Given the description of an element on the screen output the (x, y) to click on. 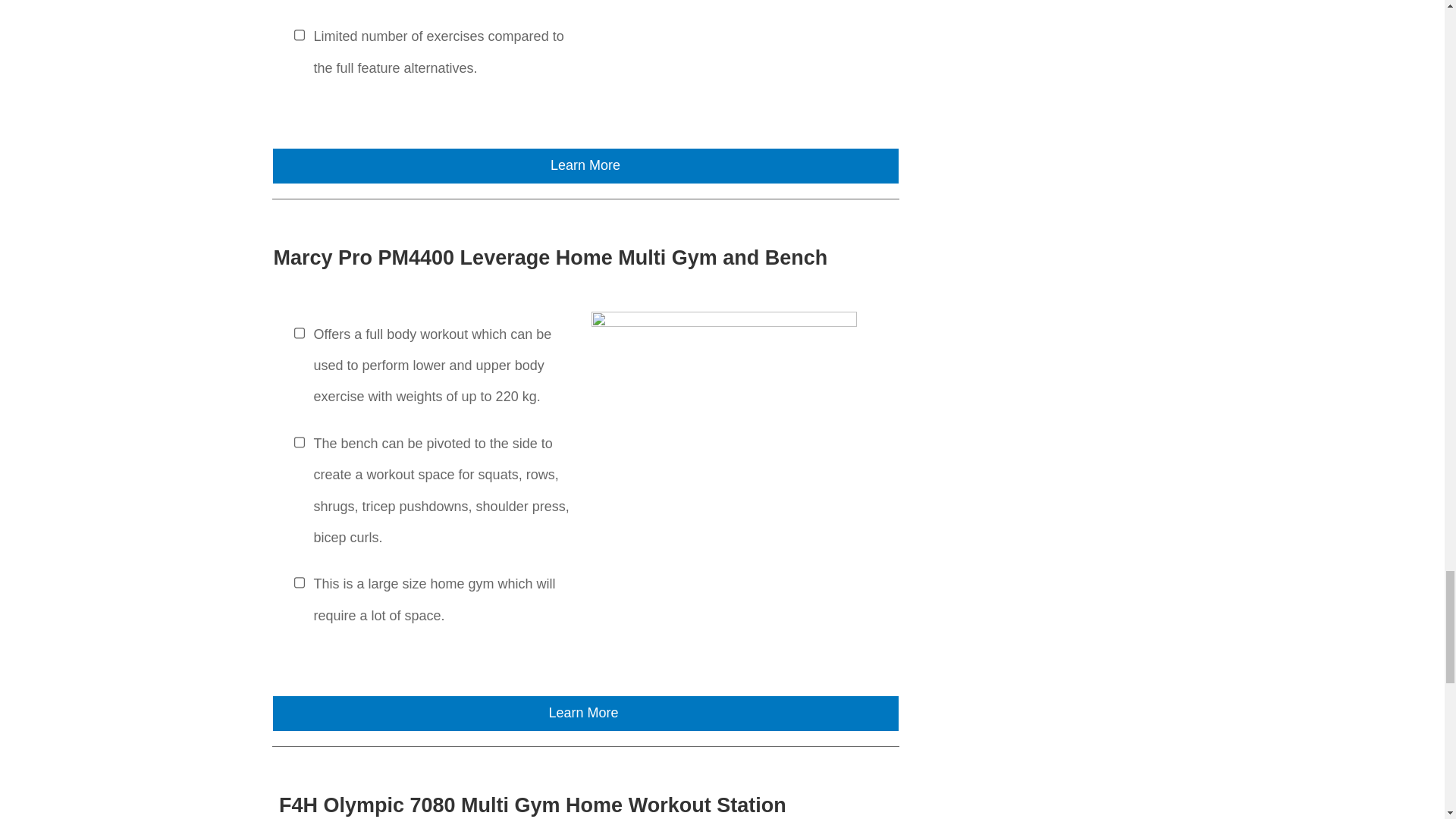
Learn More (585, 165)
Weider-8700-Multi-Gym (724, 30)
Learn More  (585, 713)
